Given the description of an element on the screen output the (x, y) to click on. 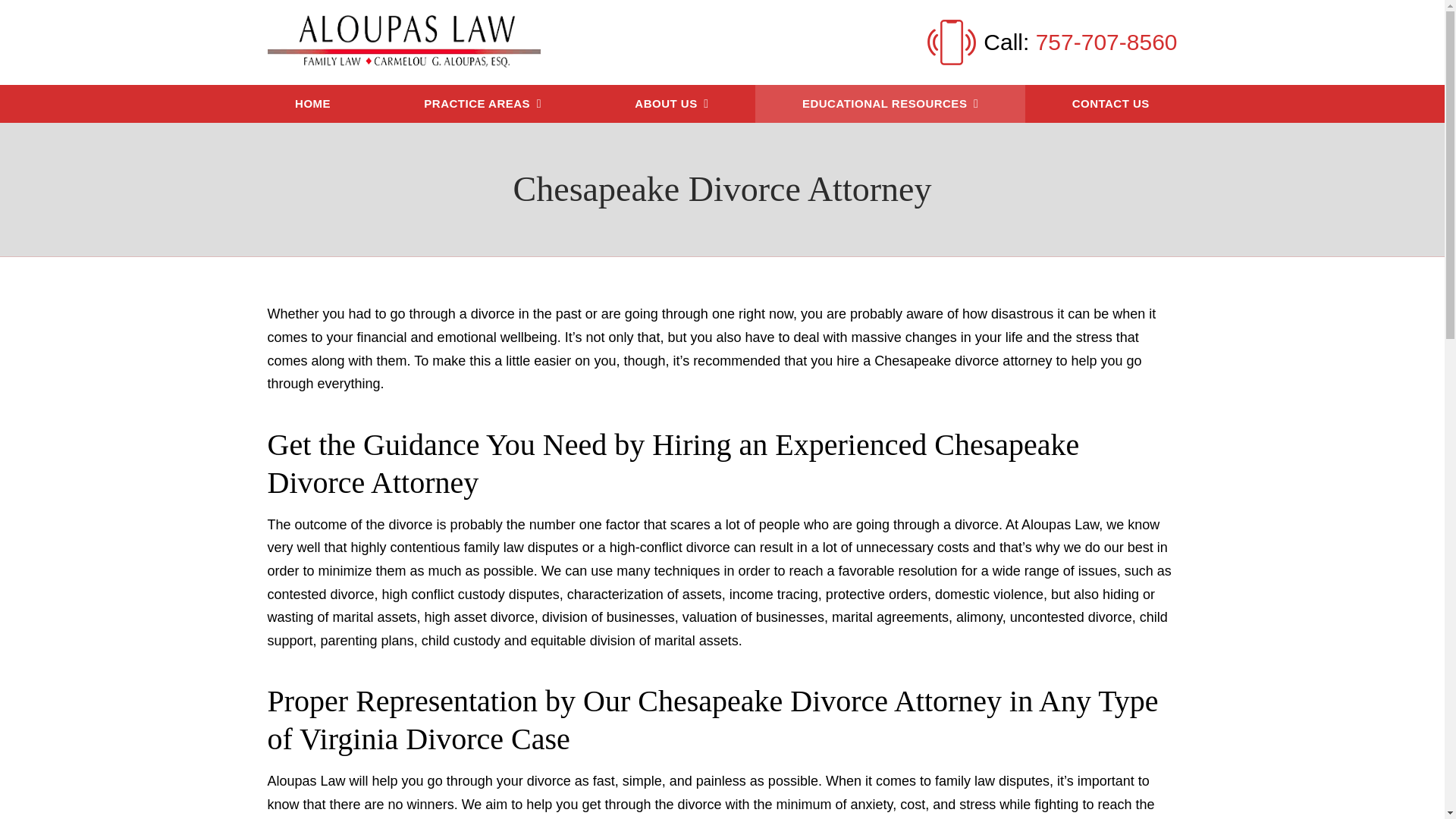
EDUCATIONAL RESOURCES (890, 104)
HOME (312, 104)
CONTACT US (1110, 104)
757-707-8560 (1106, 41)
ABOUT US (671, 104)
PRACTICE AREAS (482, 104)
